Given the description of an element on the screen output the (x, y) to click on. 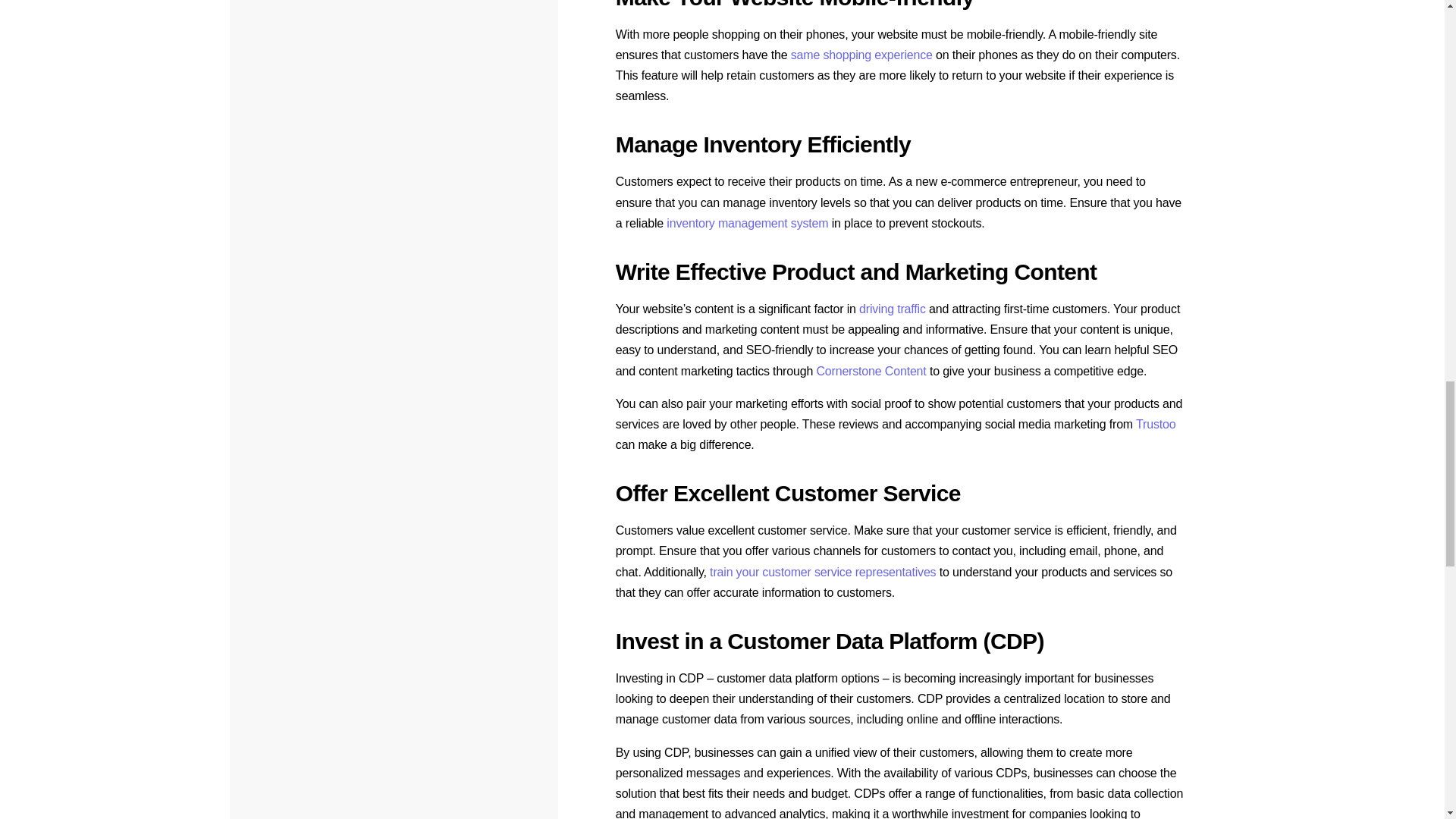
Cornerstone Content (870, 369)
driving traffic (892, 308)
train your customer service representatives (823, 571)
inventory management system (747, 223)
same shopping experience (861, 54)
Trustoo (1154, 423)
